Given the description of an element on the screen output the (x, y) to click on. 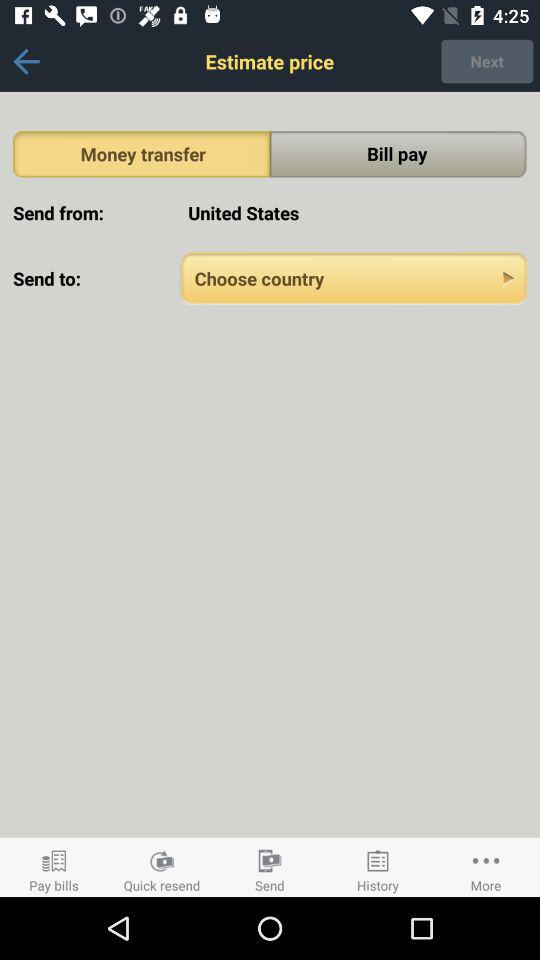
turn off app above the united states (398, 154)
